Given the description of an element on the screen output the (x, y) to click on. 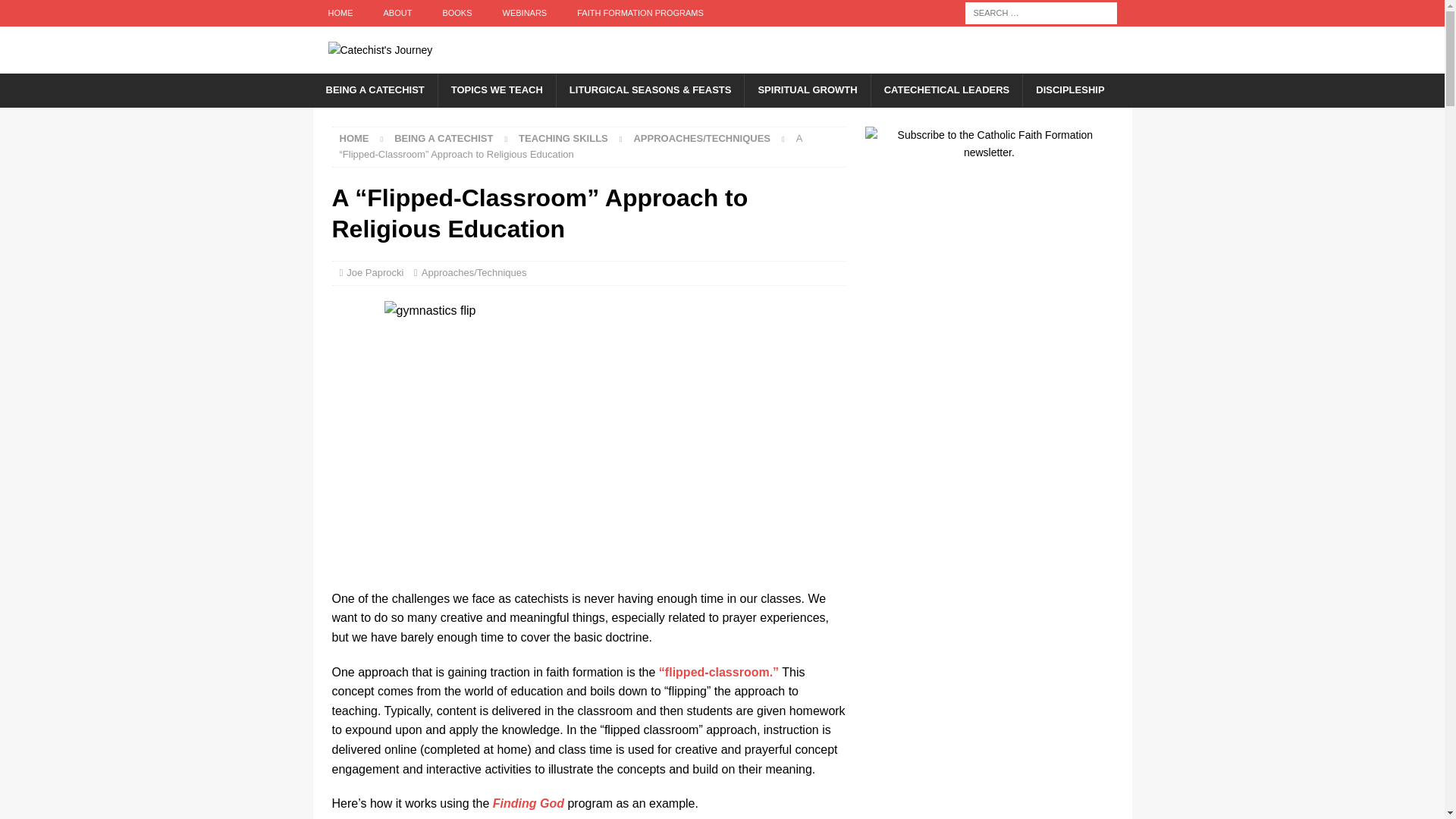
Finding God (528, 802)
FAITH FORMATION PROGRAMS (640, 13)
Search (56, 11)
BOOKS (456, 13)
Catechist's Journey (379, 64)
ABOUT (398, 13)
flipped classroom (718, 671)
HOME (340, 13)
TOPICS WE TEACH (497, 90)
Home (354, 138)
